Given the description of an element on the screen output the (x, y) to click on. 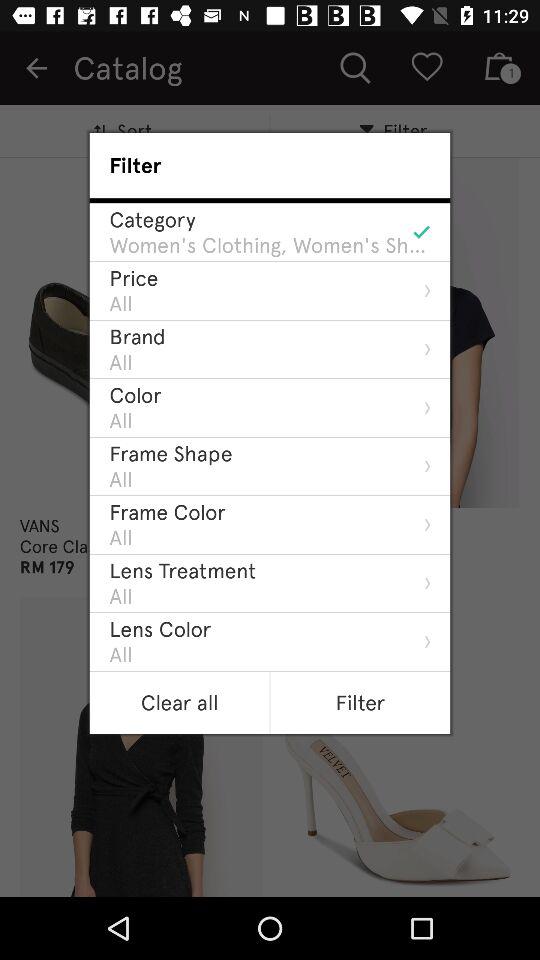
turn on item above the all item (182, 570)
